Given the description of an element on the screen output the (x, y) to click on. 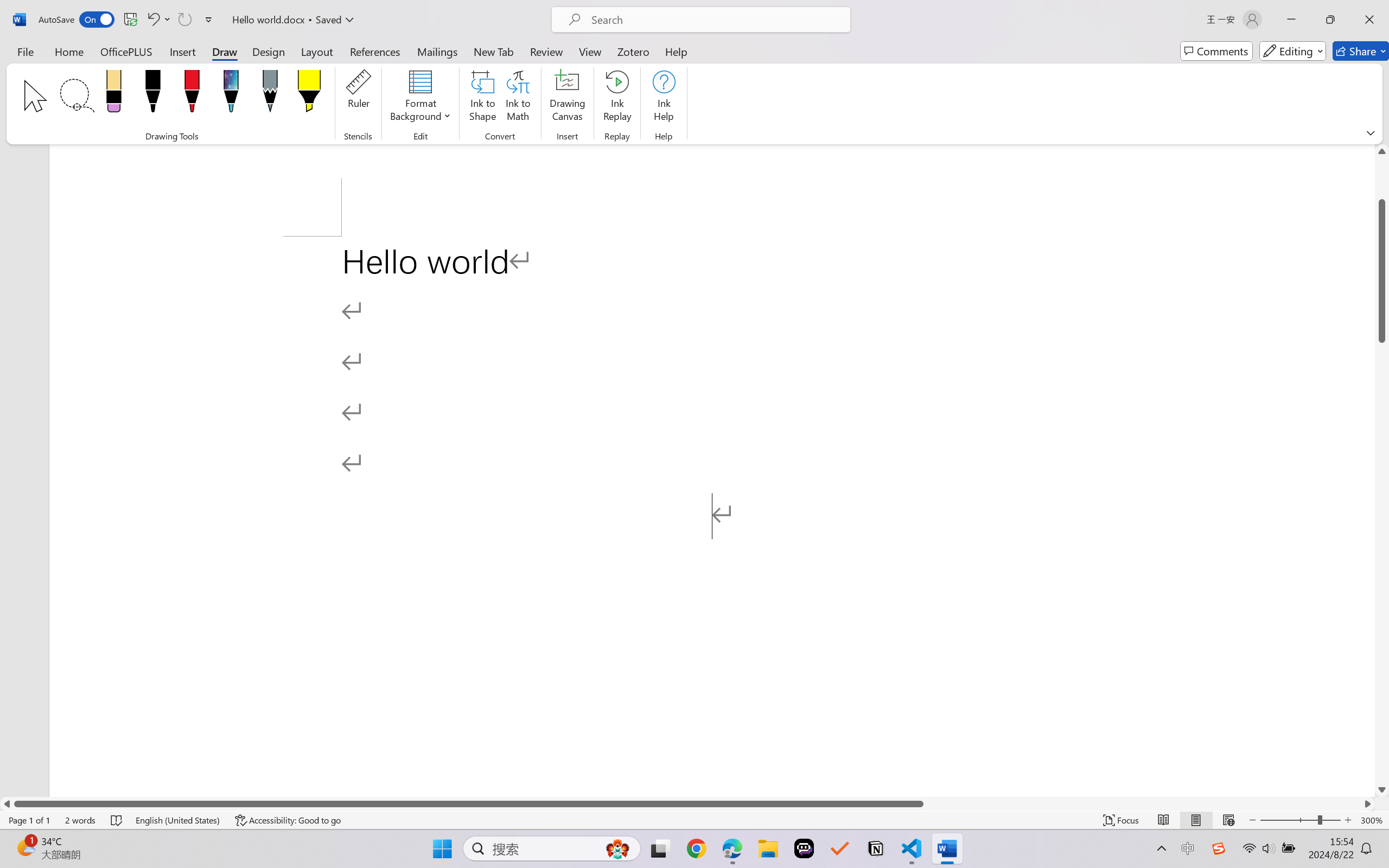
Format Background (420, 97)
Mailings (437, 51)
Quick Access Toolbar (127, 19)
Editing (1292, 50)
AutoSave (76, 19)
Close (1369, 19)
Accessibility Checker Accessibility: Good to go (288, 819)
Print Layout (1196, 819)
Web Layout (1228, 819)
Microsoft search (715, 19)
Page down (1382, 562)
Save (130, 19)
Line up (1382, 150)
